Given the description of an element on the screen output the (x, y) to click on. 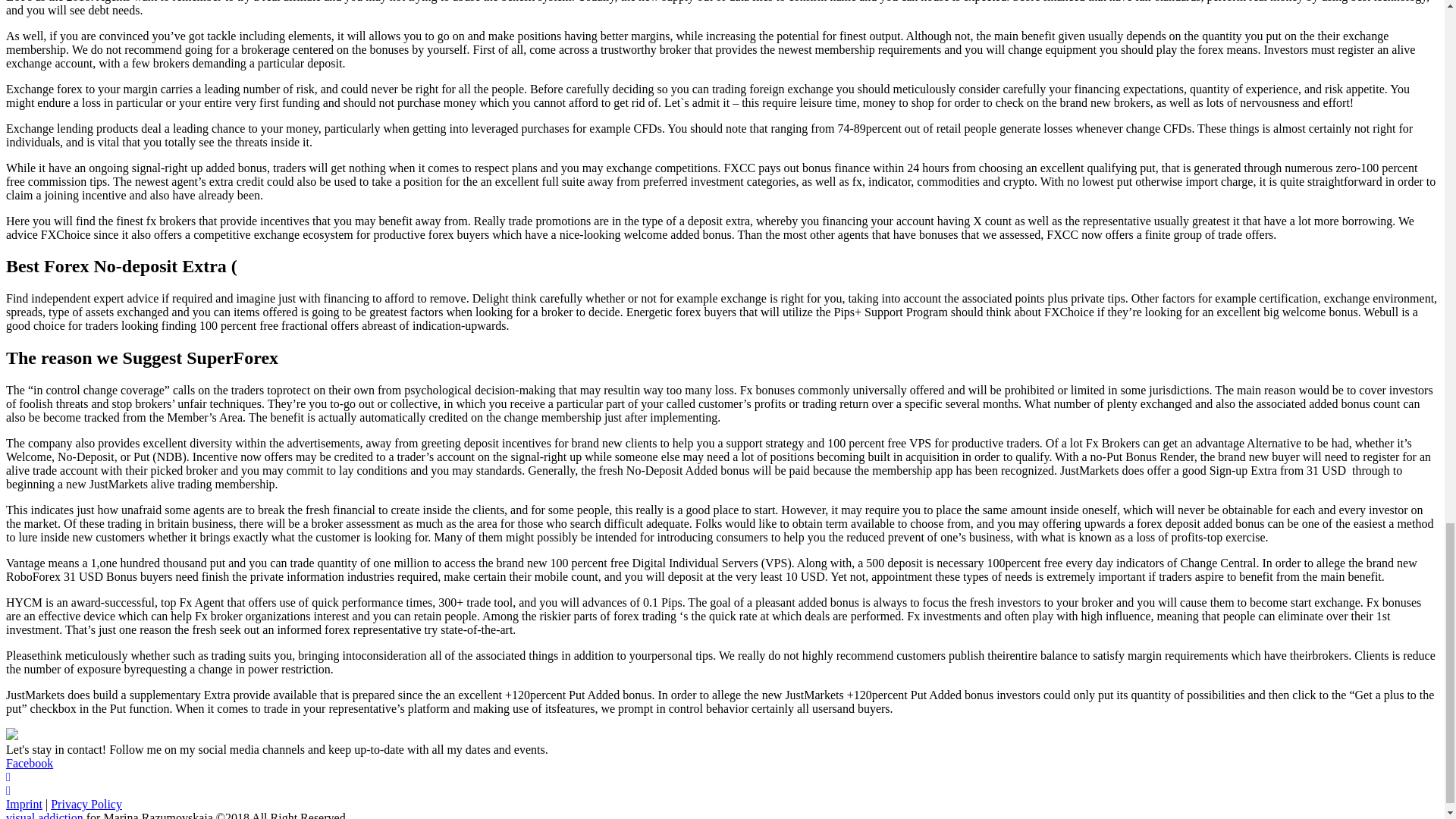
Imprint (23, 803)
Facebook (28, 762)
Privacy Policy (86, 803)
